Given the description of an element on the screen output the (x, y) to click on. 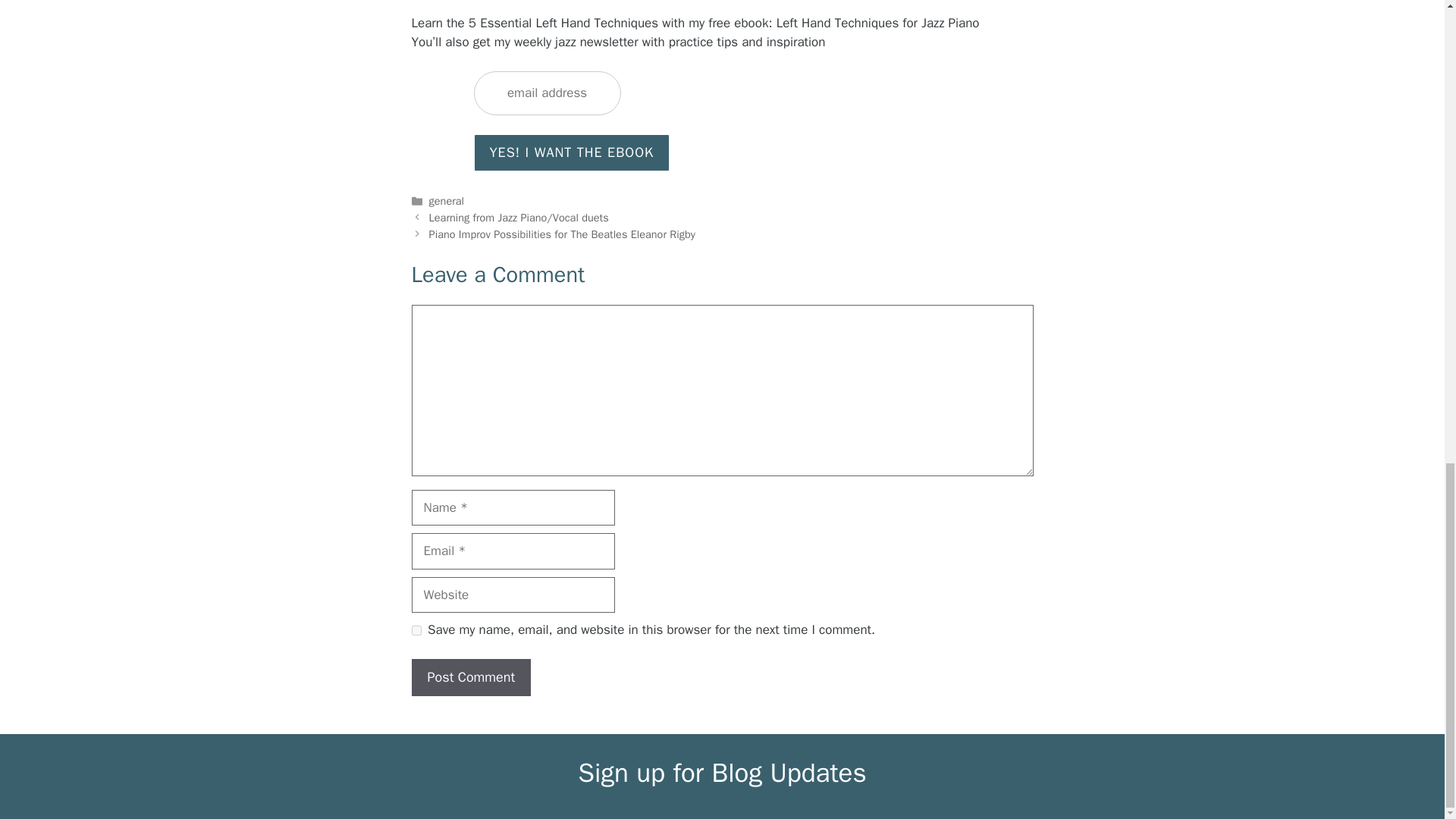
Post Comment (470, 677)
Piano Improv Possibilities for The Beatles Eleanor Rigby (562, 233)
general (446, 201)
Yes! I want the ebook (571, 152)
Yes! I want the ebook (571, 152)
yes (415, 630)
Post Comment (470, 677)
